Given the description of an element on the screen output the (x, y) to click on. 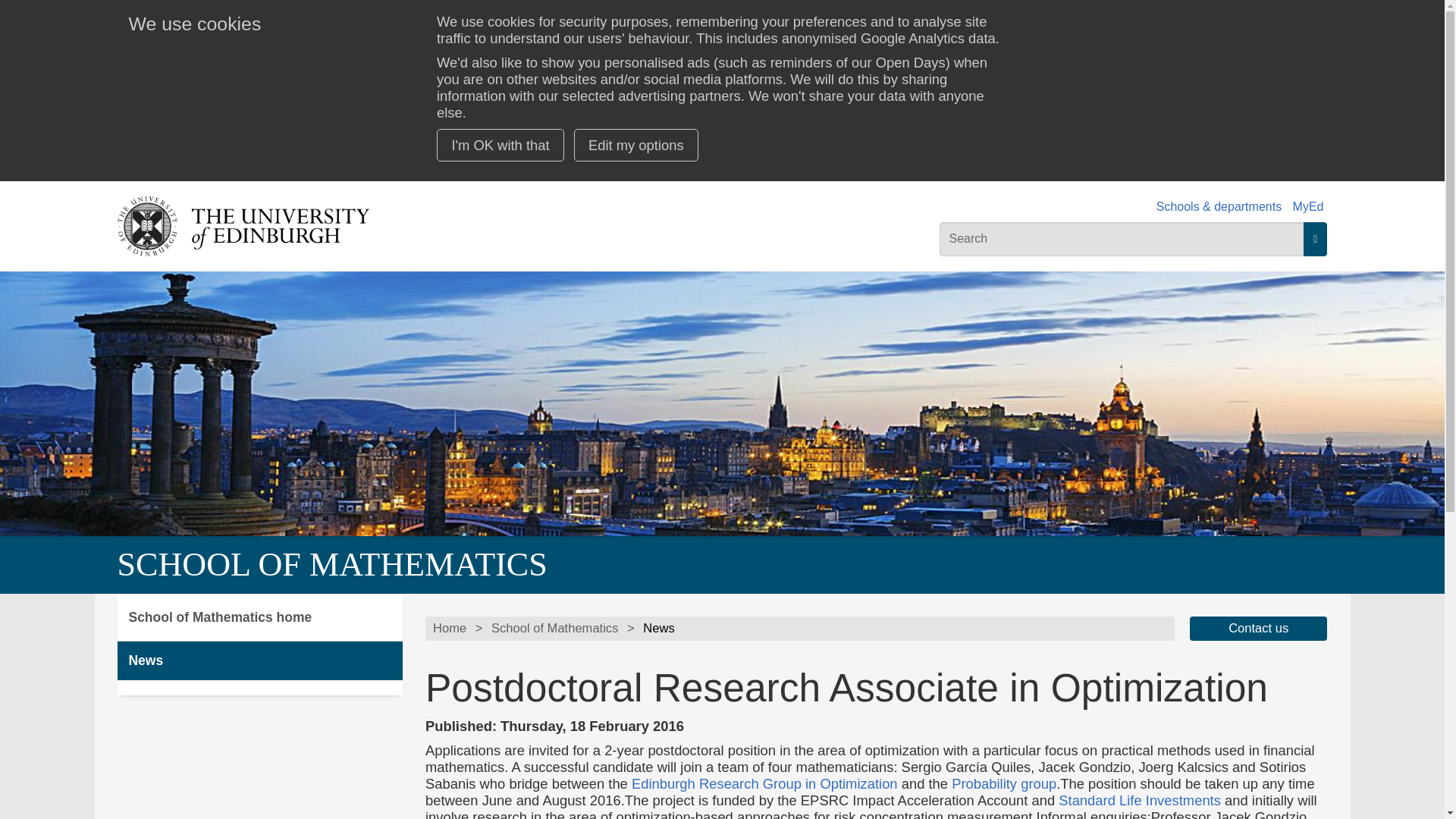
Edinburgh Research Group in Optimization (764, 783)
MyEd (1307, 205)
I'm OK with that (500, 144)
Standard Life Investments (1139, 800)
Contact us (1258, 628)
Home (448, 628)
Edit my options (635, 144)
Probability group (1004, 783)
SCHOOL OF MATHEMATICS (331, 564)
School of Mathematics home (259, 617)
